Given the description of an element on the screen output the (x, y) to click on. 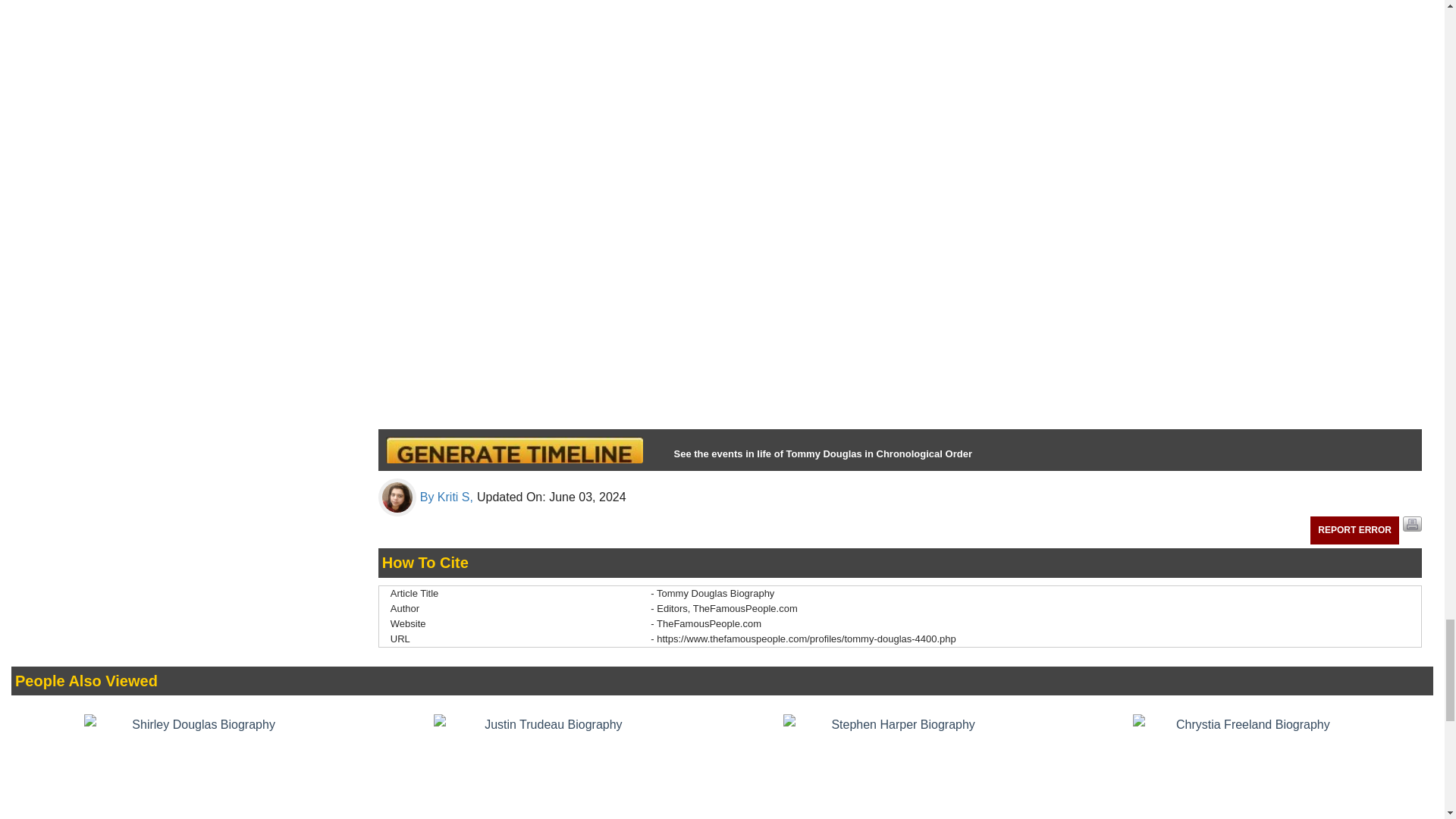
Chrystia Freeland (1245, 766)
Shirley Douglas (197, 766)
Justin Trudeau (547, 766)
Stephen Harper (896, 766)
